Given the description of an element on the screen output the (x, y) to click on. 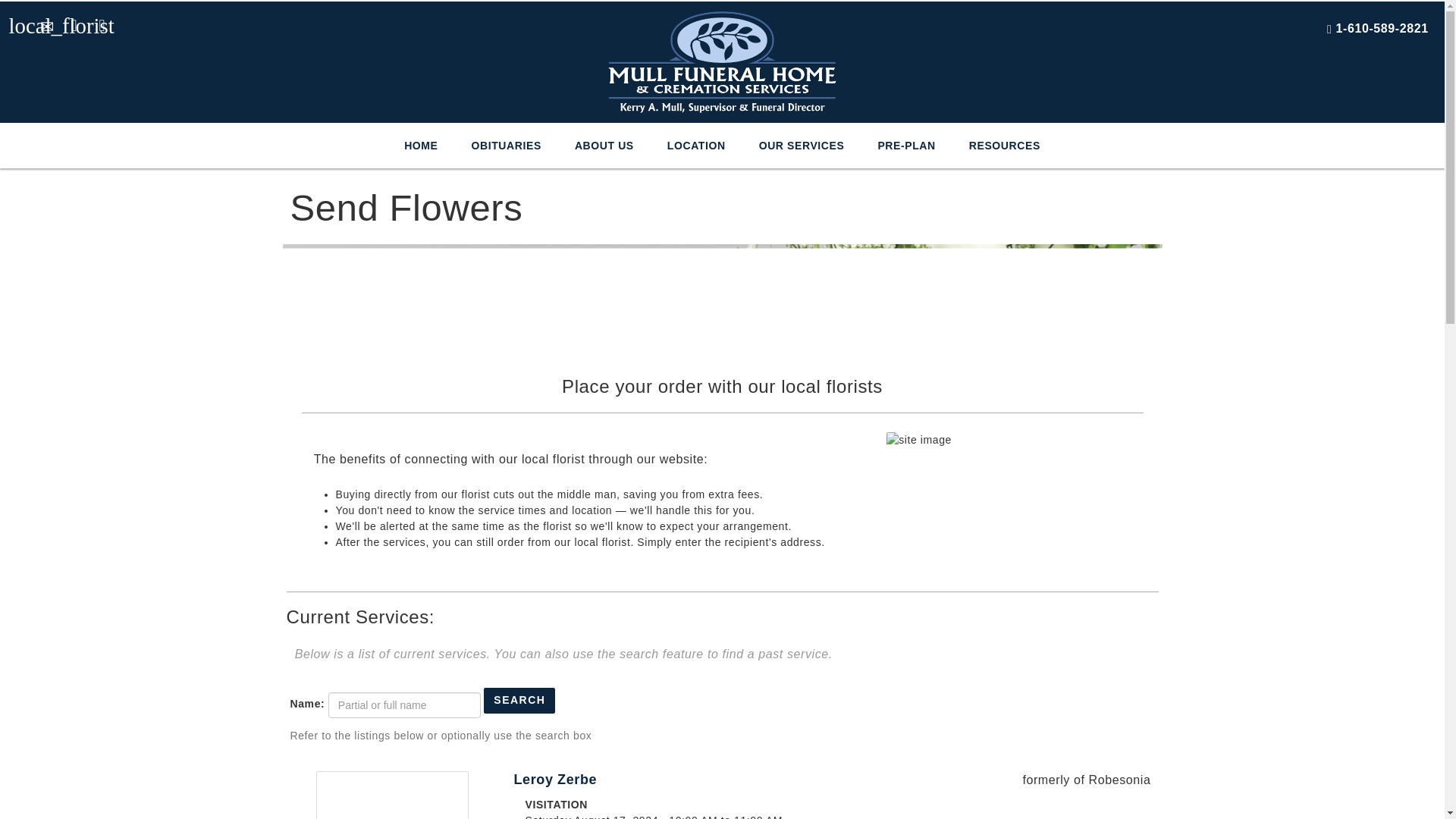
OUR SERVICES (801, 145)
HOME (420, 145)
ABOUT US (603, 145)
Contact Us (44, 21)
Send Flowers (17, 21)
RESOURCES (1004, 145)
OBITUARIES (505, 145)
Directions (72, 21)
1-610-589-2821 (1381, 28)
LOCATION (696, 145)
PRE-PLAN (906, 145)
